Given the description of an element on the screen output the (x, y) to click on. 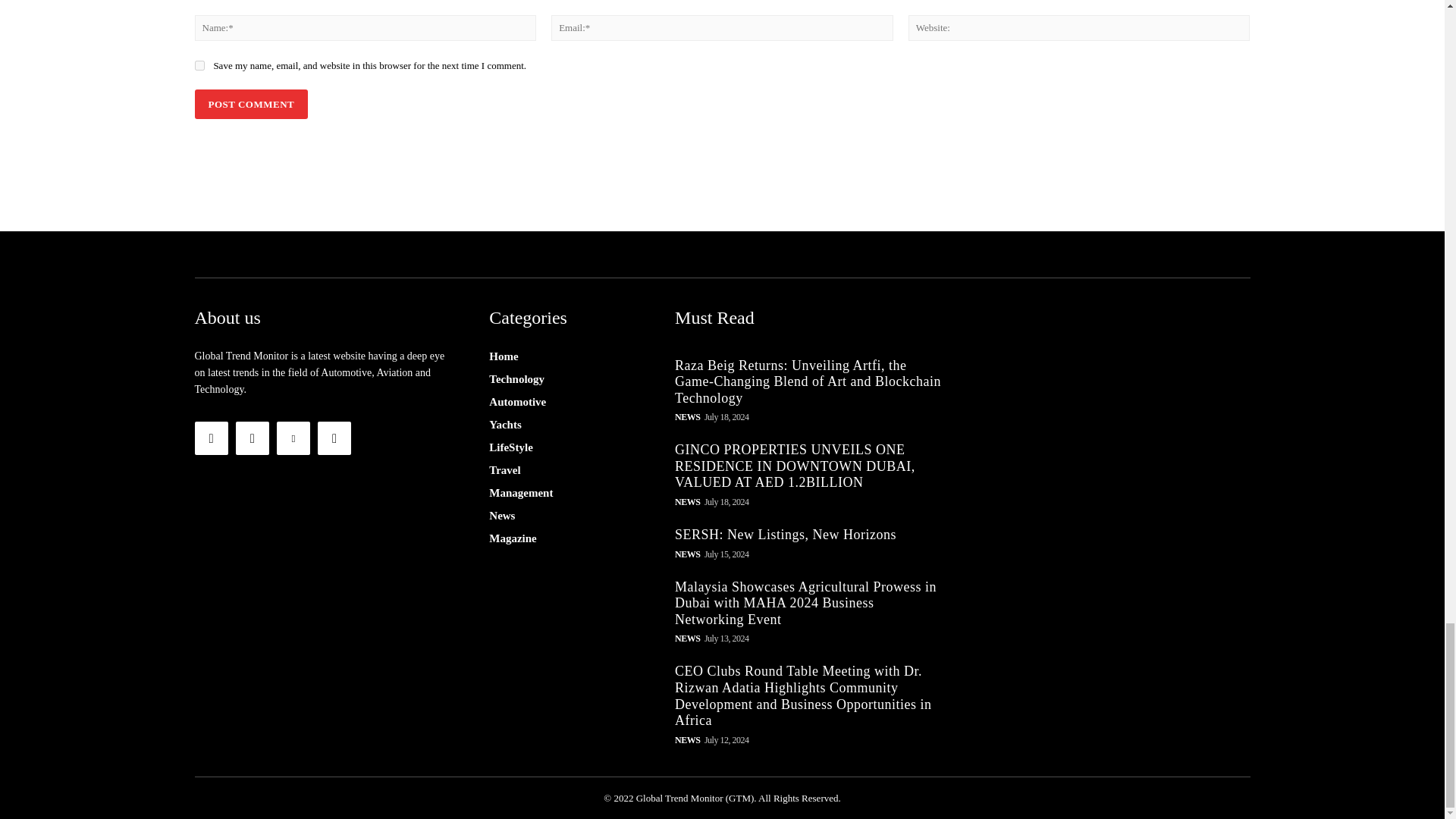
yes (198, 65)
Post Comment (250, 103)
